Given the description of an element on the screen output the (x, y) to click on. 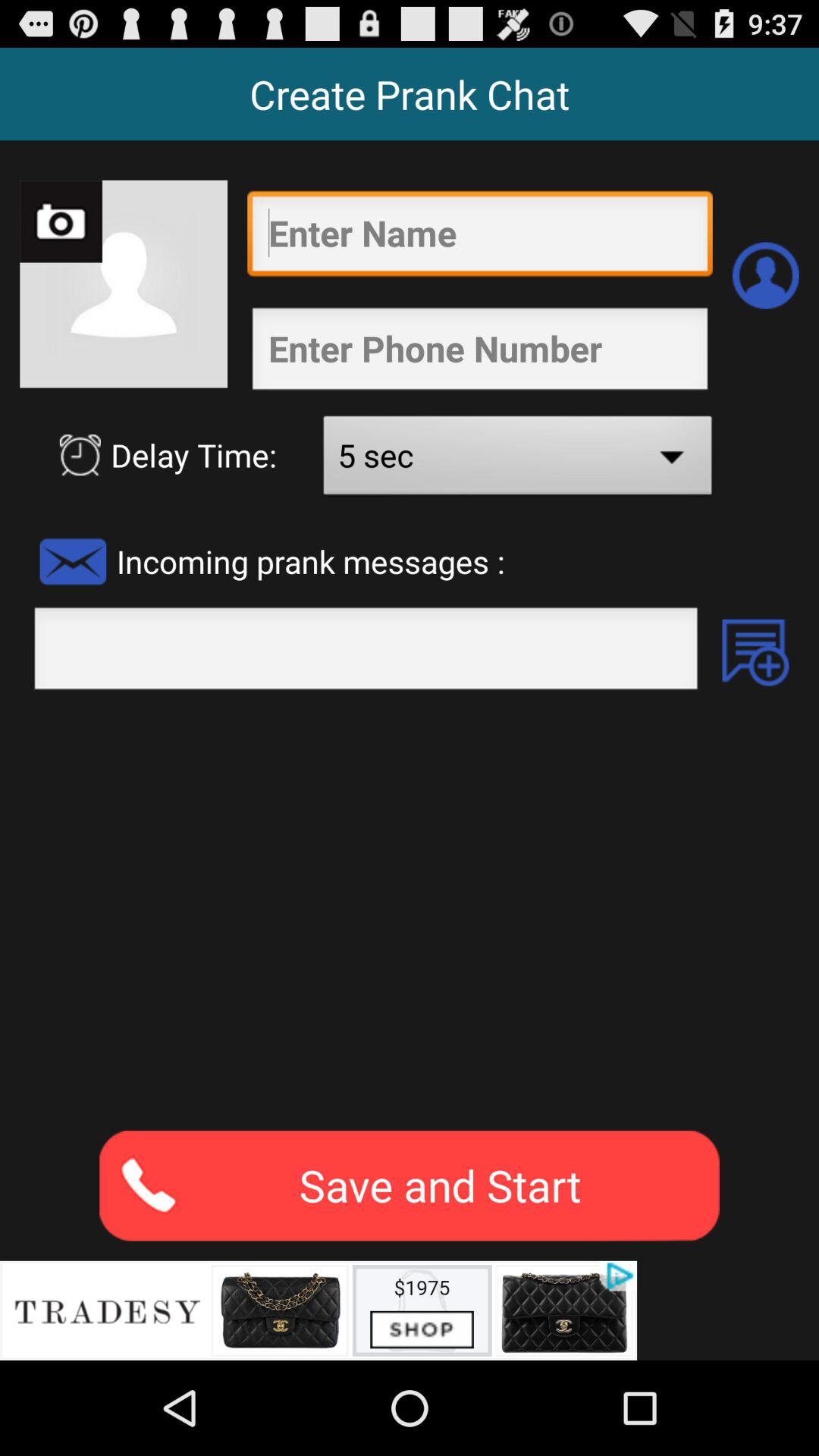
description (409, 910)
